Given the description of an element on the screen output the (x, y) to click on. 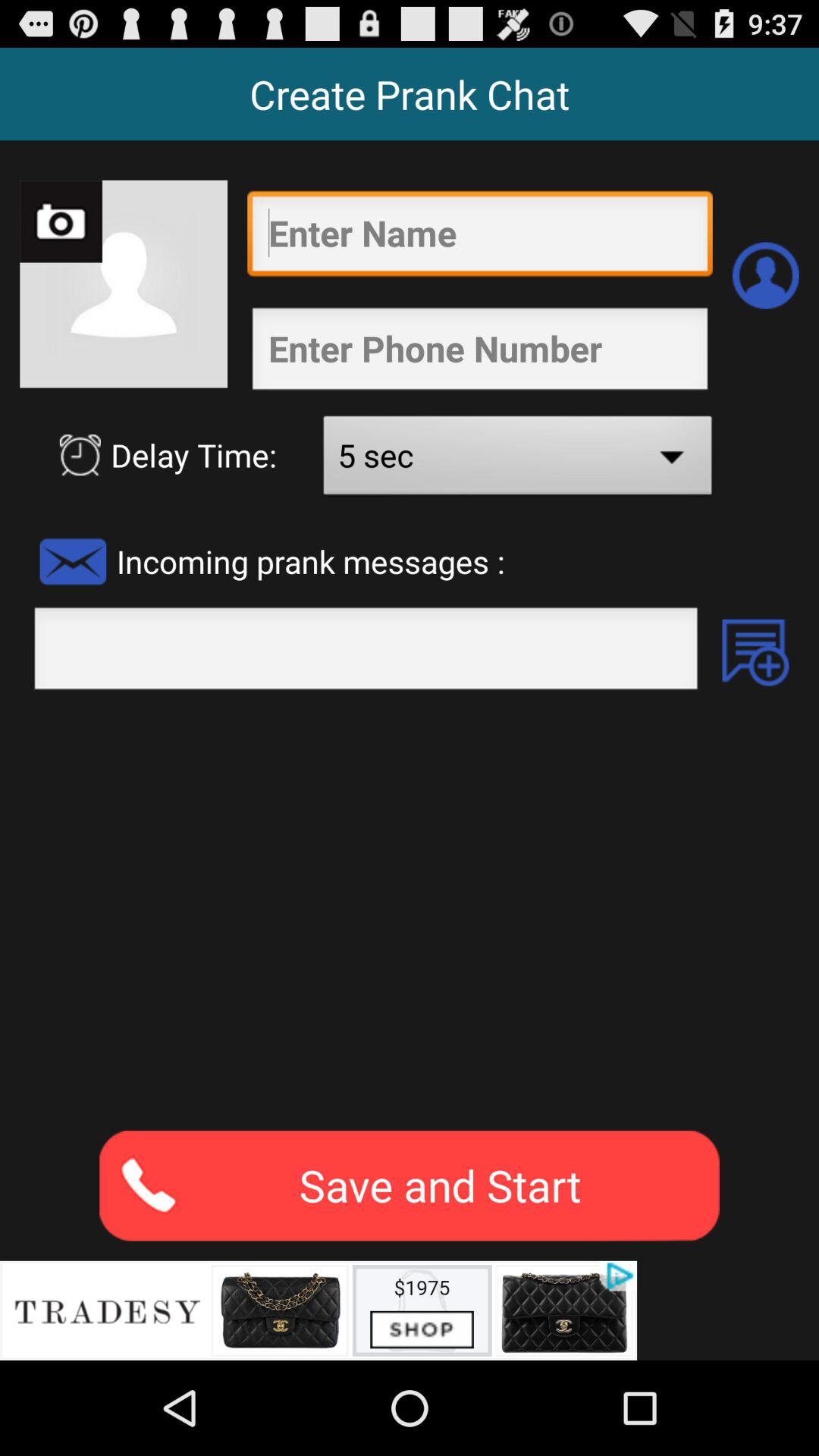
description (409, 910)
